Given the description of an element on the screen output the (x, y) to click on. 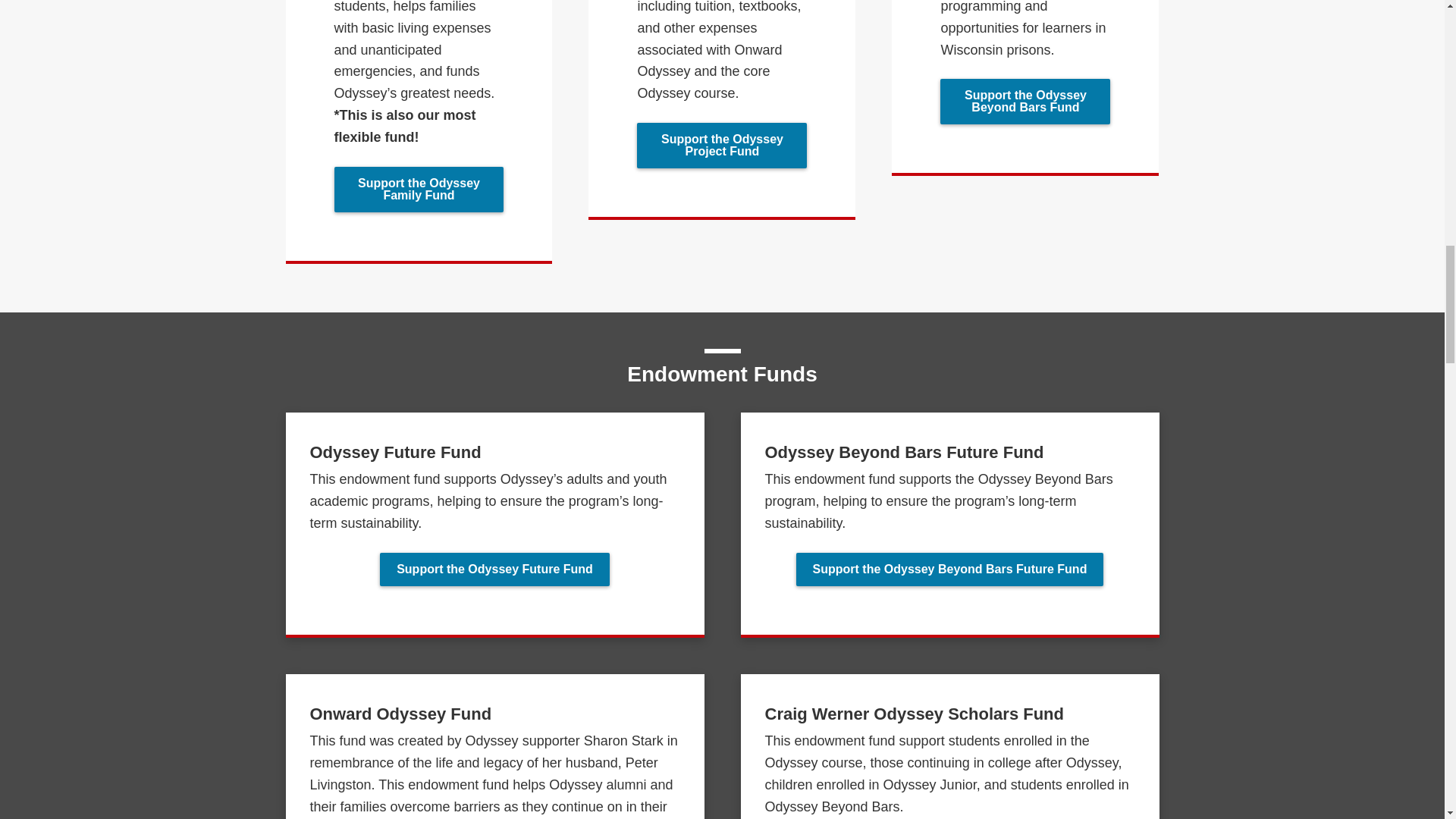
Support the Odyssey Family Fund (418, 189)
Support the Odyssey Beyond Bars Future Fund (949, 569)
Support the Odyssey Future Fund (495, 569)
Support the Odyssey Project Fund (721, 145)
Support the Odyssey Beyond Bars Fund (1024, 101)
